Given the description of an element on the screen output the (x, y) to click on. 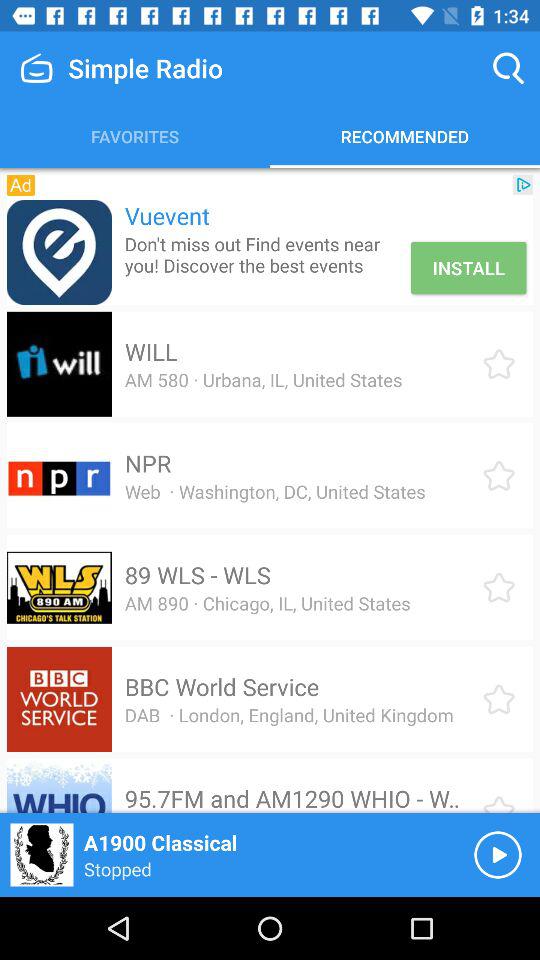
vuevent app icon (58, 251)
